Given the description of an element on the screen output the (x, y) to click on. 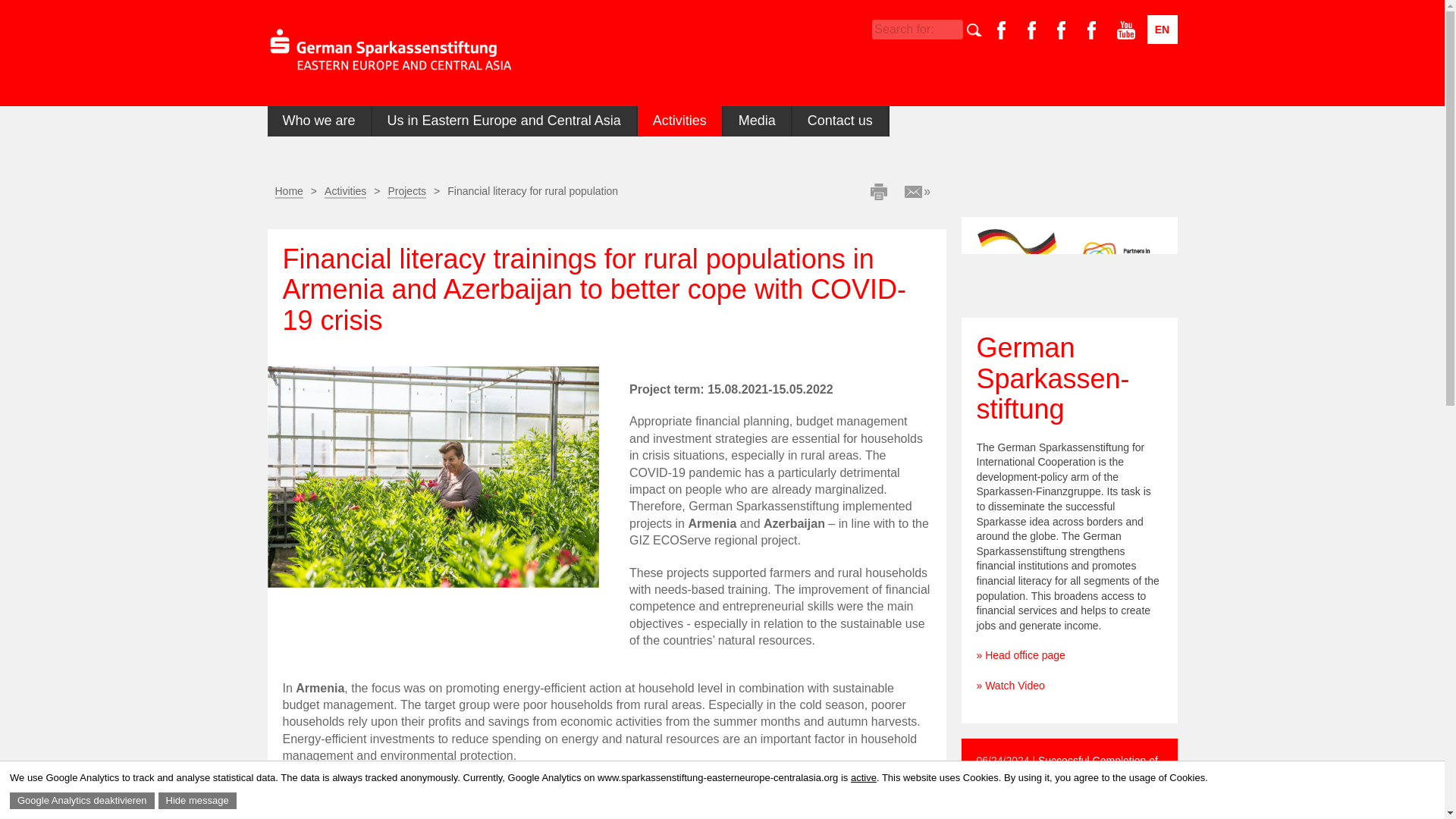
Facebook (1066, 30)
German Sparkassenstiftung Eastern Europe and Central Asia (389, 51)
Who we are (317, 121)
Search (986, 29)
go to: Us in Eastern Europe and Central Asia (504, 121)
Search (986, 29)
Facebook (1036, 30)
Facebook (1006, 30)
go to: Who we are (317, 121)
YouTube (1125, 30)
